Given the description of an element on the screen output the (x, y) to click on. 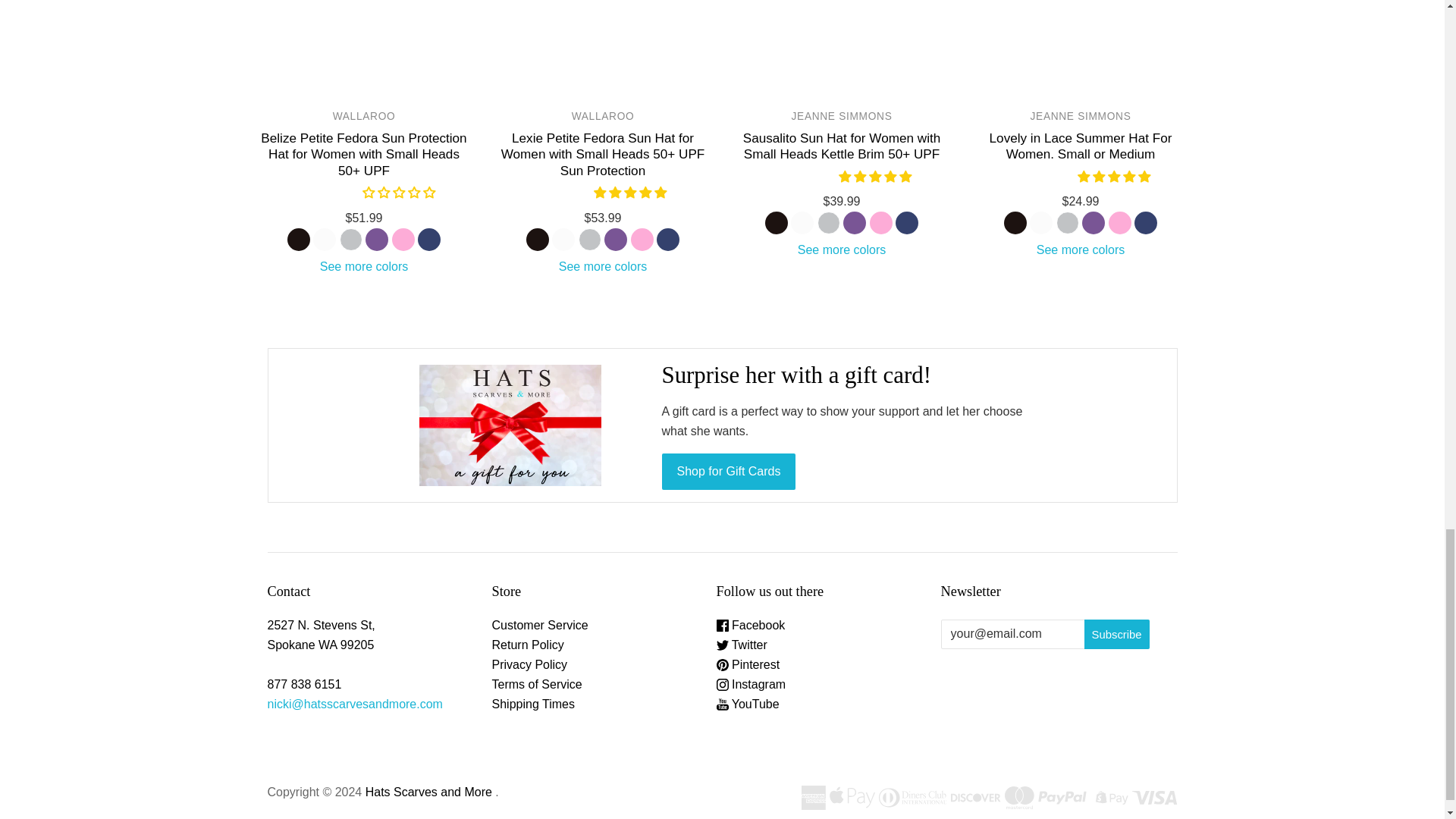
Wallaroo (603, 116)
Jeanne Simmons (842, 116)
Pinterest (748, 664)
Wallaroo (364, 116)
Facebook (751, 625)
YouTube (747, 703)
Twitter (741, 644)
Jeanne Simmons (1080, 116)
Instagram (751, 684)
Subscribe (1117, 634)
